Given the description of an element on the screen output the (x, y) to click on. 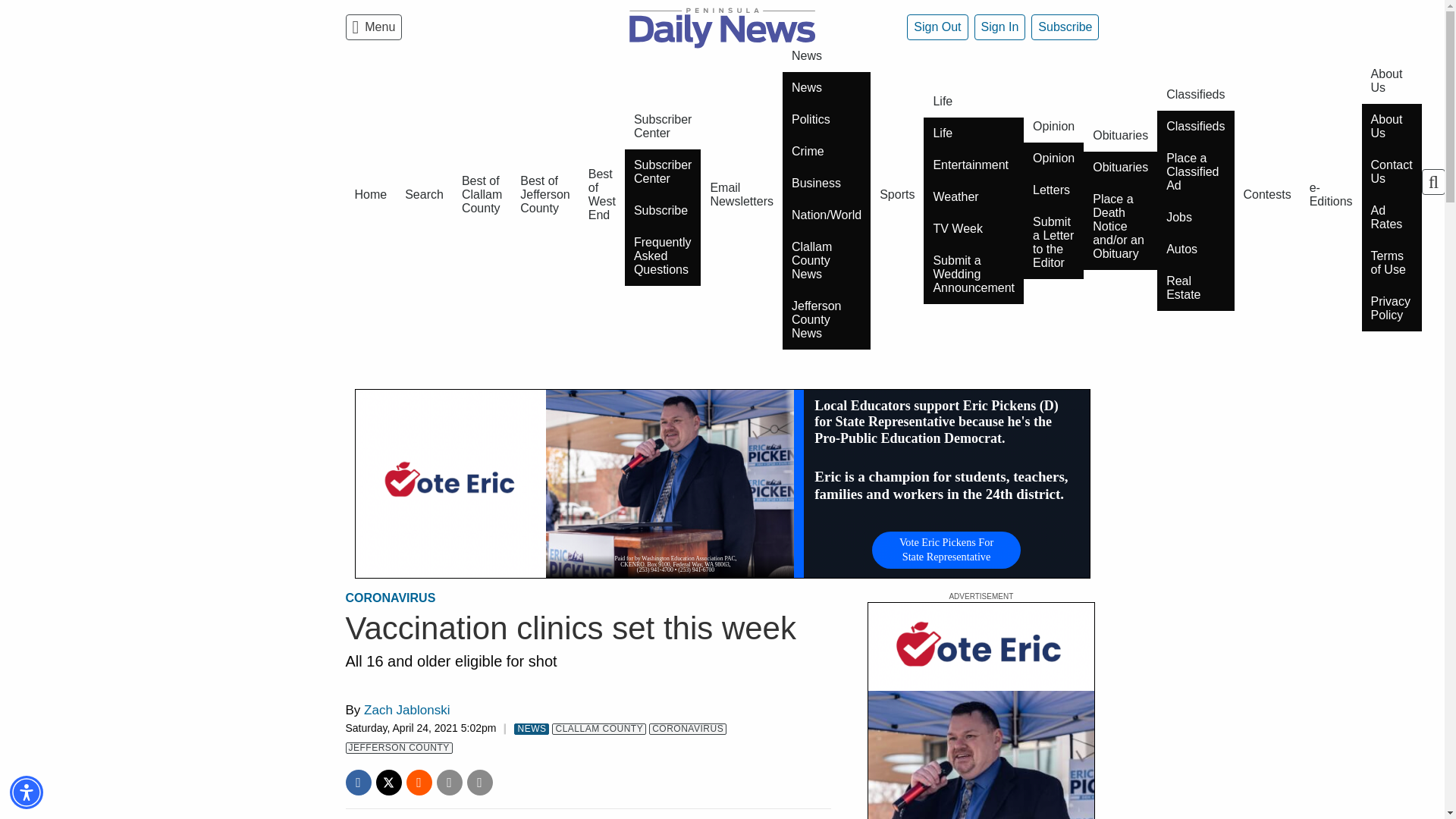
Post to Twitter (388, 782)
Post to Facebook (358, 782)
Accessibility Menu (26, 792)
Email story (449, 782)
Post to Reddit (419, 782)
Print story (480, 782)
